Given the description of an element on the screen output the (x, y) to click on. 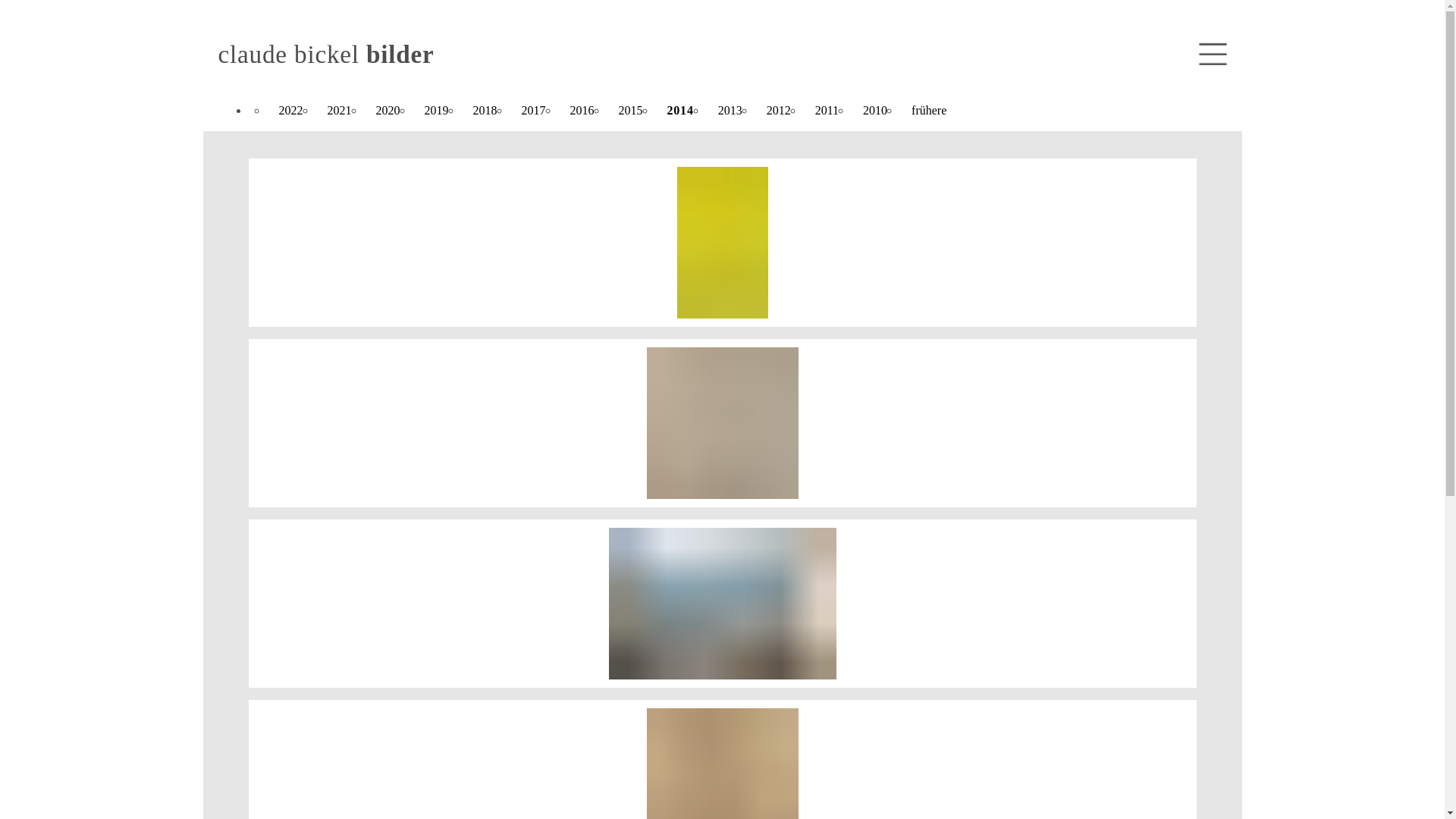
2021 Element type: text (339, 110)
2011 Element type: text (826, 110)
2019 Element type: text (436, 110)
2013 Element type: text (730, 110)
bilder Element type: text (400, 54)
2020 Element type: text (388, 110)
2012 Element type: text (778, 110)
2010 Element type: text (874, 110)
2022 Element type: text (290, 110)
2015 Element type: text (630, 110)
2018 Element type: text (485, 110)
2017 Element type: text (533, 110)
2014 Element type: text (680, 110)
claude bickel Element type: text (288, 54)
2016 Element type: text (582, 110)
